Given the description of an element on the screen output the (x, y) to click on. 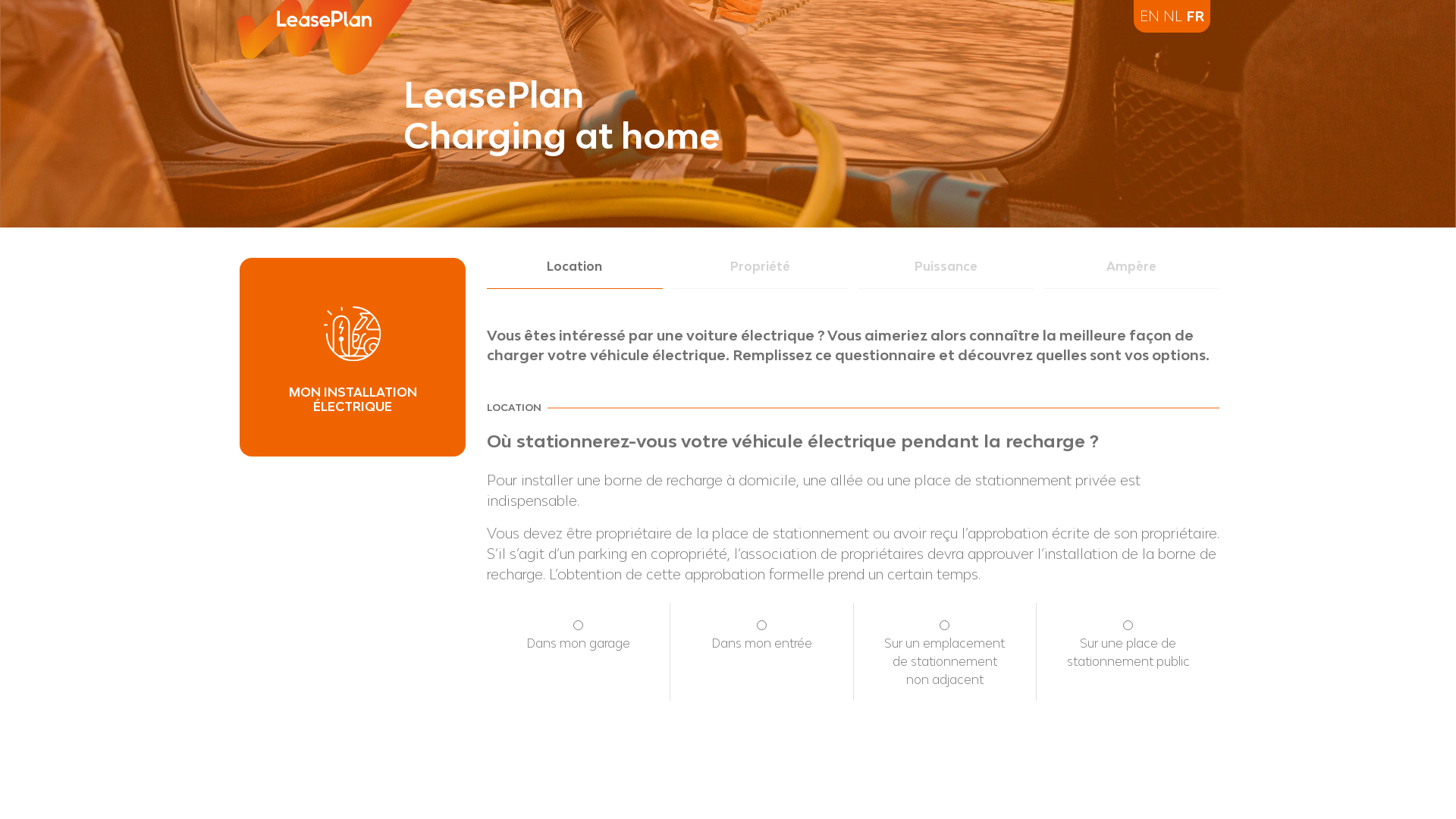
EN Element type: text (1149, 15)
FR Element type: text (1195, 15)
NL Element type: text (1172, 15)
